Given the description of an element on the screen output the (x, y) to click on. 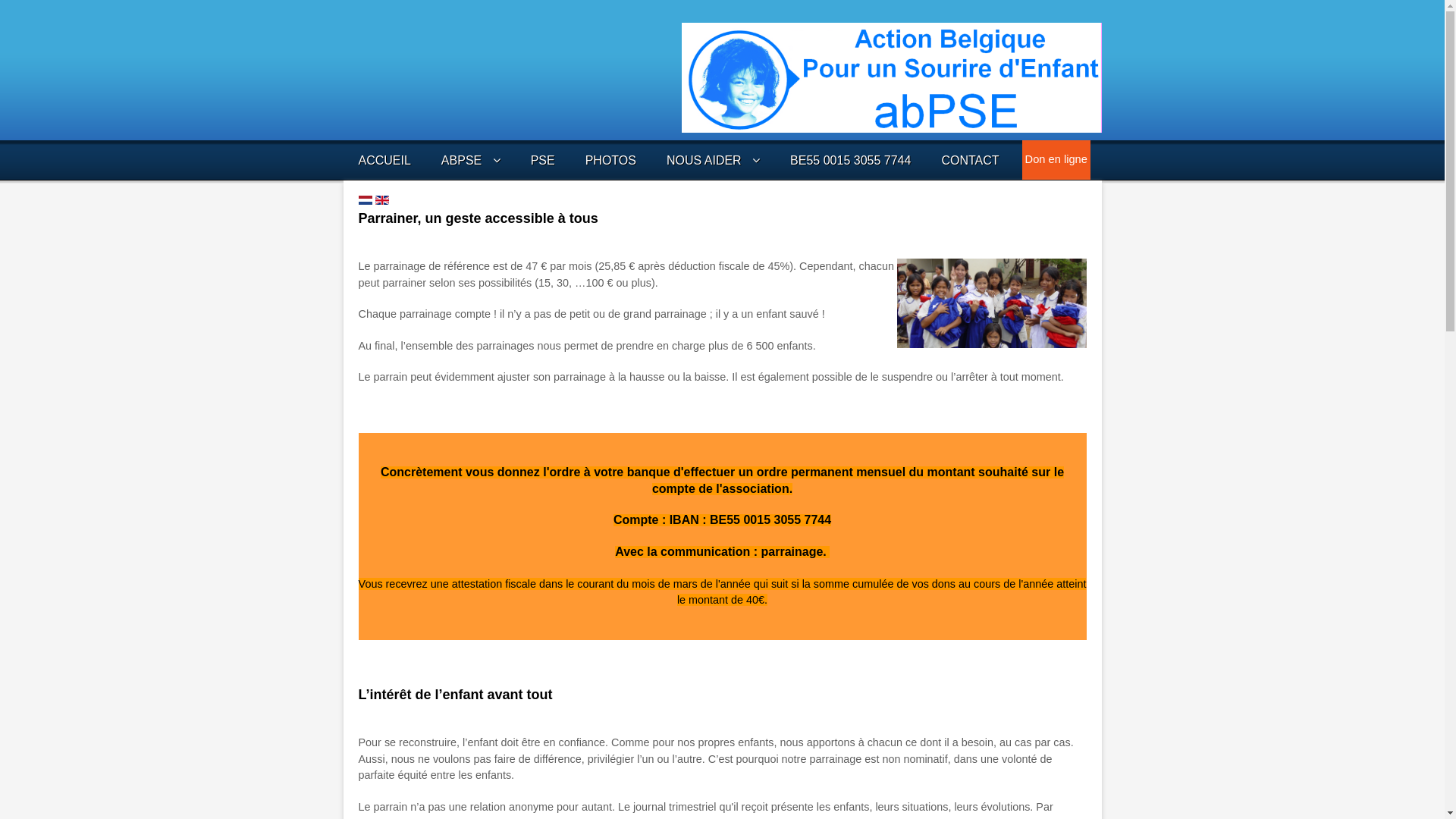
PHOTOS Element type: text (610, 160)
English (UK) Element type: hover (381, 199)
ACCUEIL Element type: text (383, 160)
BE55 0015 3055 7744 Element type: text (850, 160)
PSE Element type: text (542, 160)
NOUS AIDER Element type: text (712, 160)
Nederlands Element type: hover (364, 199)
Don en ligne Element type: text (1056, 159)
CONTACT Element type: text (969, 160)
ABPSE Element type: text (470, 160)
